Given the description of an element on the screen output the (x, y) to click on. 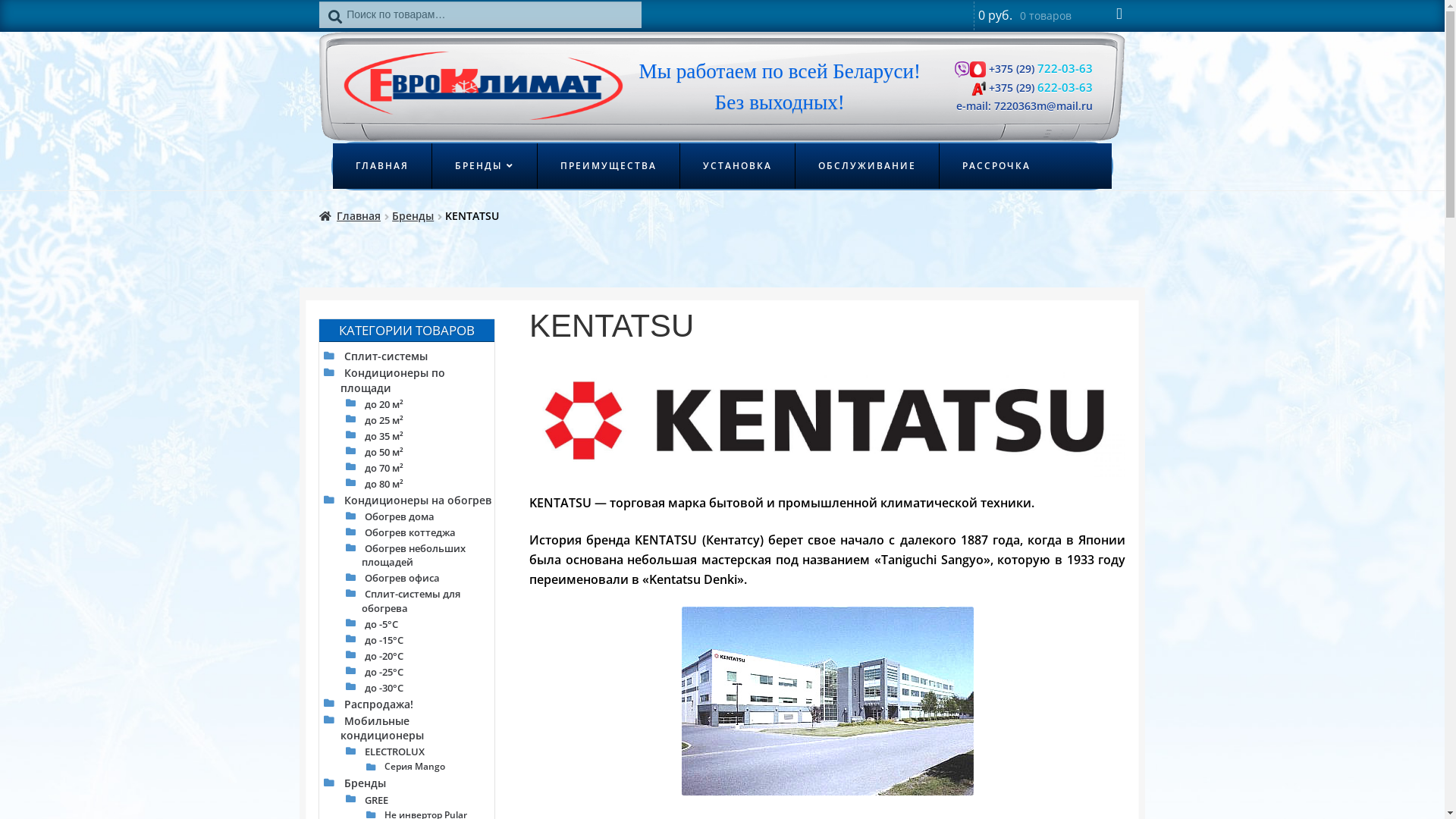
ELECTROLUX Element type: text (394, 750)
+375 (29) 622-03-63 Element type: text (1038, 87)
e-mail: 7220363m@mail.ru Element type: text (1024, 105)
+375 (29) 722-03-63 Element type: text (1038, 68)
GREE Element type: text (376, 799)
